Given the description of an element on the screen output the (x, y) to click on. 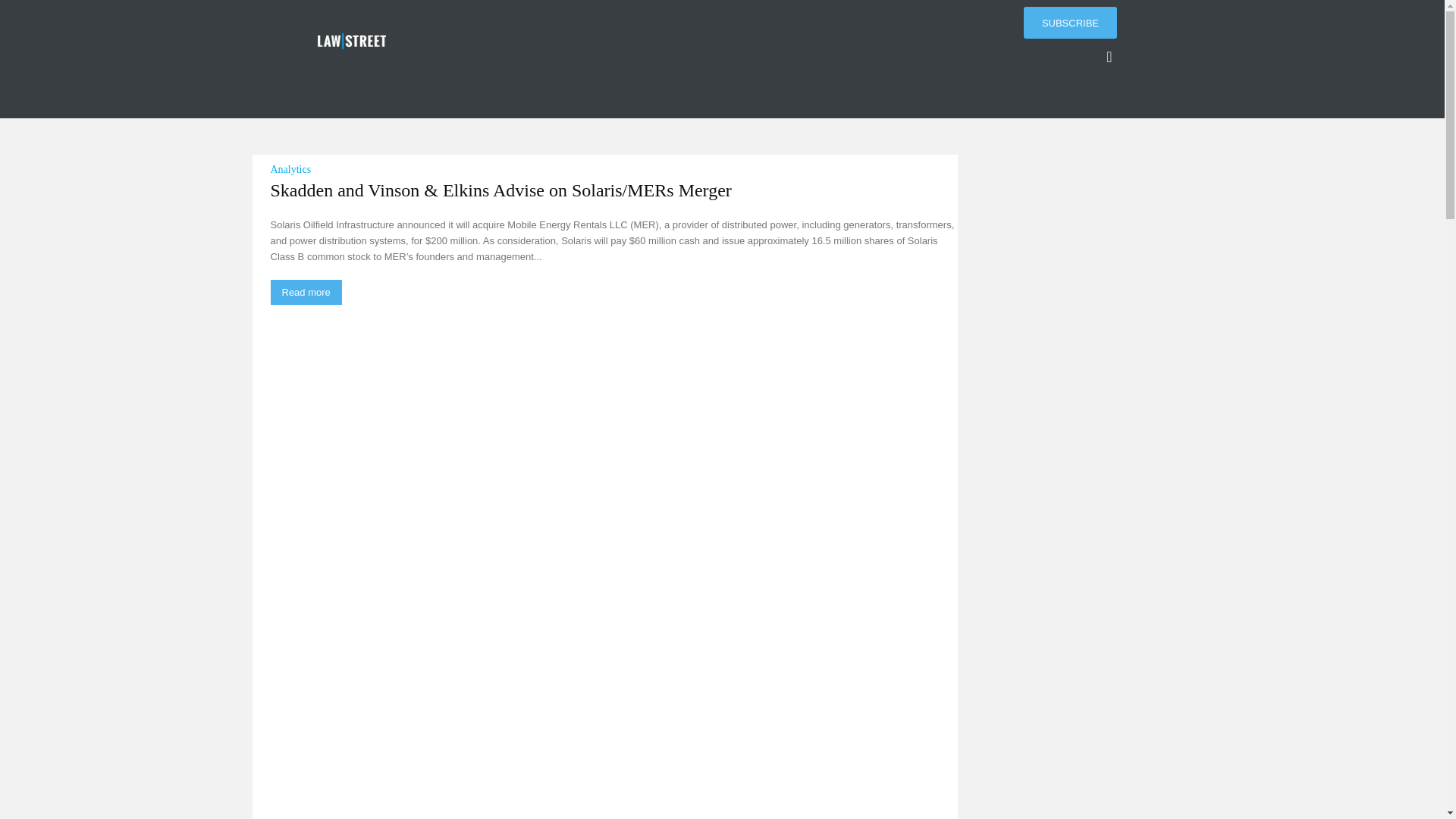
Read more (304, 292)
Subscribe (1069, 22)
Analytics (290, 171)
SUBSCRIBE (1069, 22)
Making Waves: Saltchuk to Acquire Overseas Shipholding Group (613, 738)
Read more (304, 292)
FTC Pursues an Oil Industry Legend, as Others Join the Hunt (379, 738)
